Given the description of an element on the screen output the (x, y) to click on. 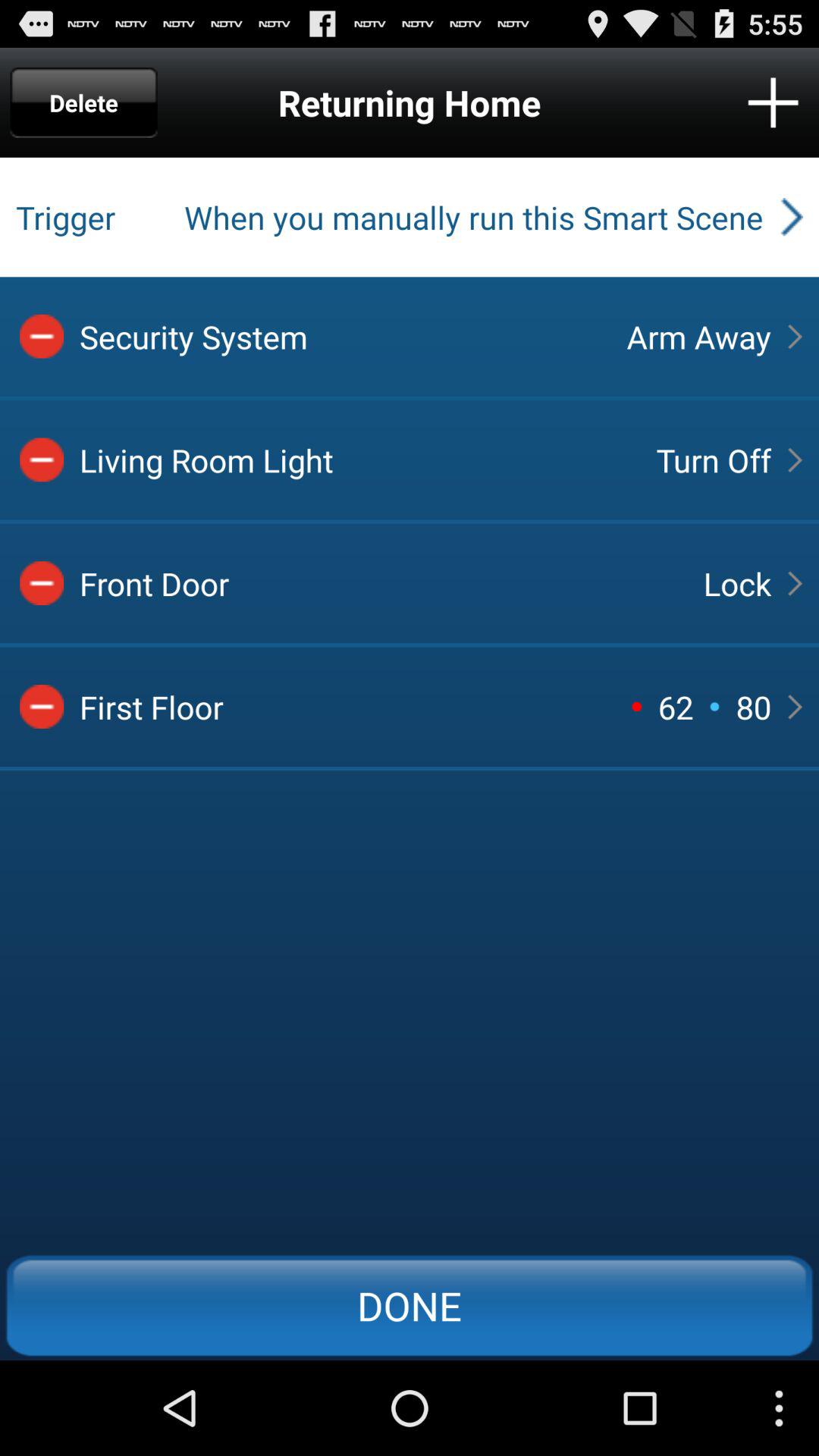
turn off icon below the arm away icon (713, 459)
